Given the description of an element on the screen output the (x, y) to click on. 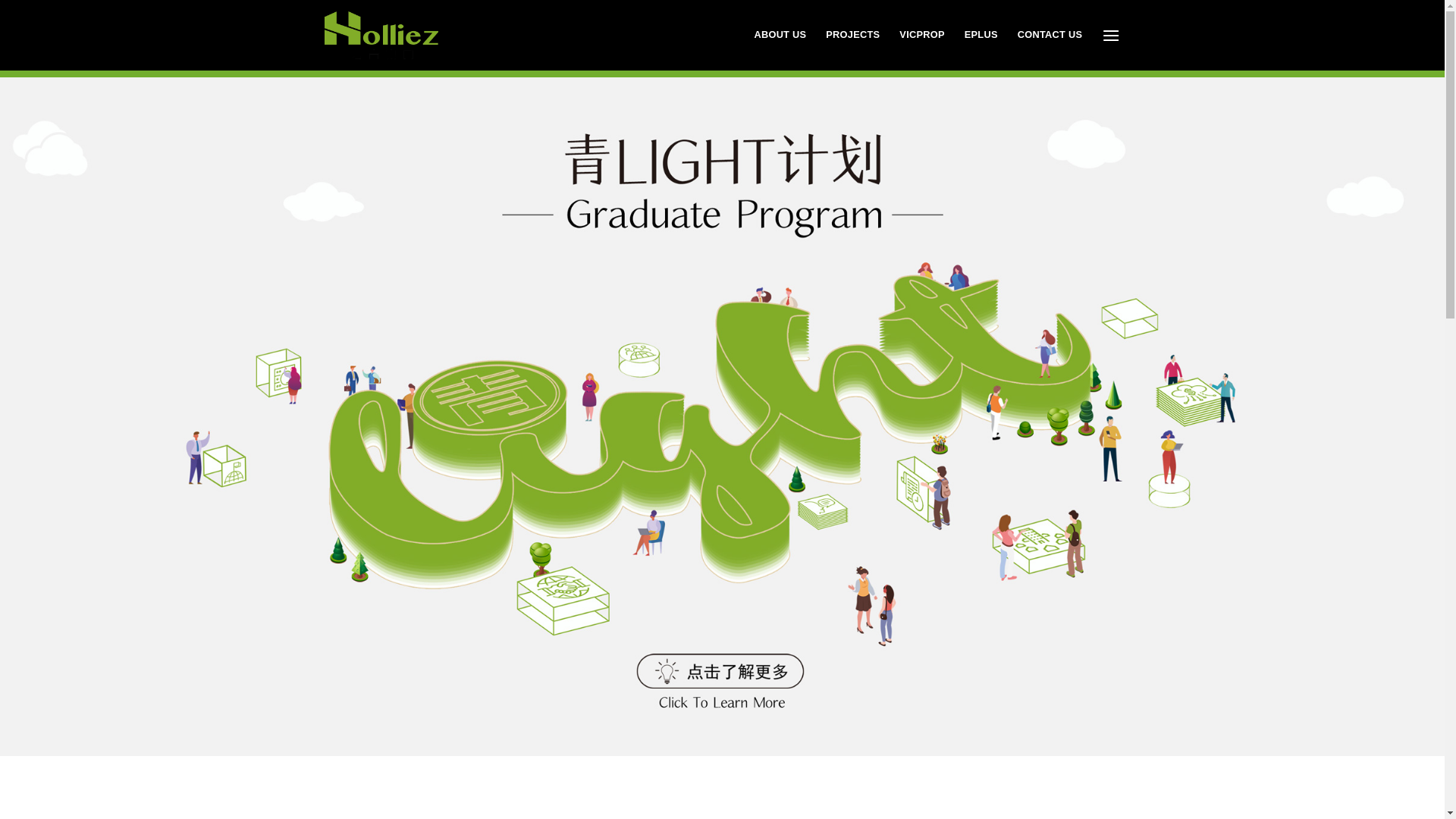
holliez -  Element type: hover (381, 35)
ABOUT US Element type: text (779, 34)
Skip to content Element type: text (0, 0)
VICPROP Element type: text (921, 34)
PROJECTS Element type: text (852, 34)
CONTACT US Element type: text (1049, 34)
EPLUS Element type: text (980, 34)
